Given the description of an element on the screen output the (x, y) to click on. 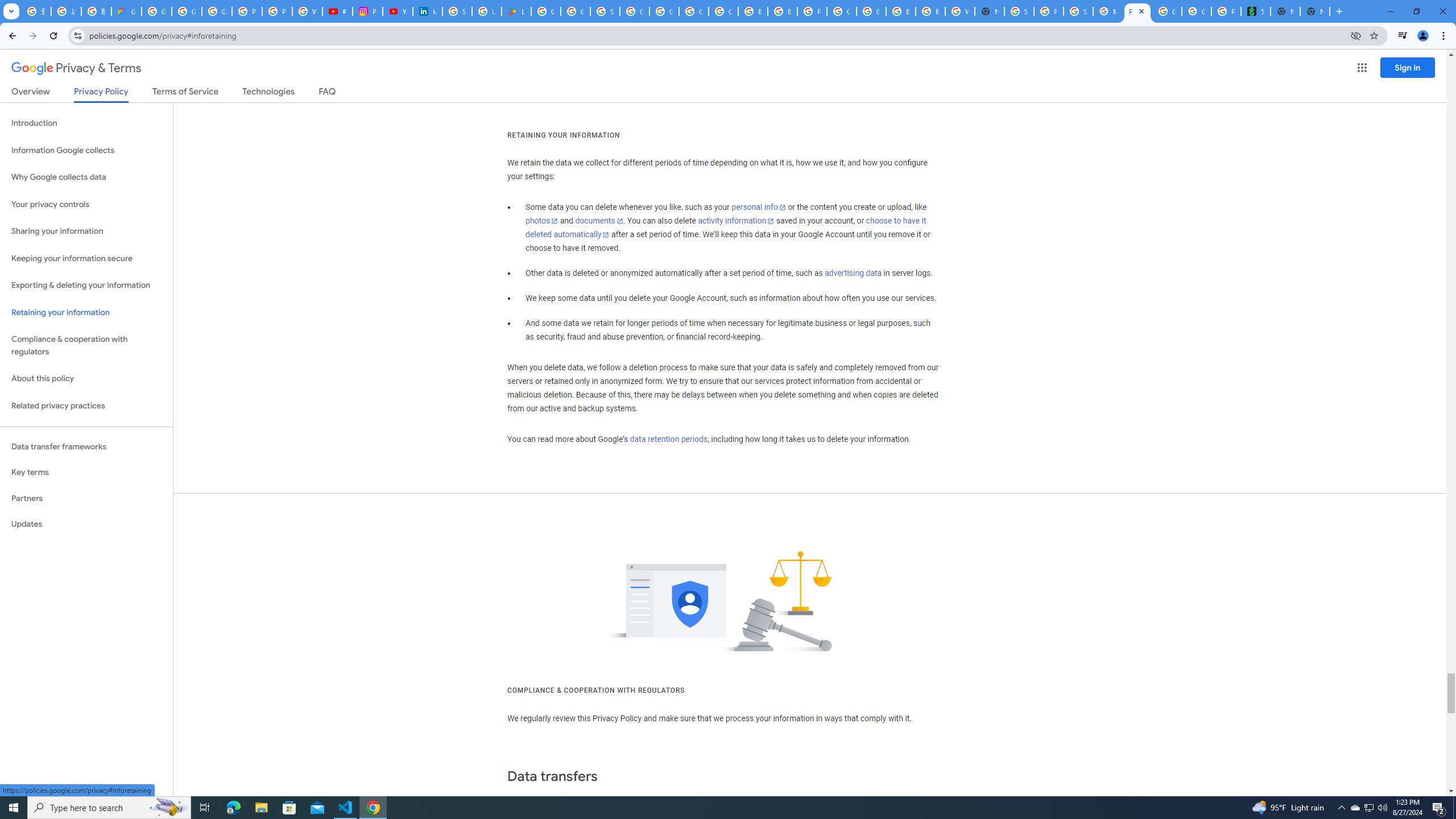
Google Cloud Platform (664, 11)
personal info (758, 207)
Privacy & Terms (76, 68)
#nbabasketballhighlights - YouTube (337, 11)
Sharing your information (86, 230)
Technologies (268, 93)
Privacy Policy (100, 94)
data retention periods (667, 439)
